Given the description of an element on the screen output the (x, y) to click on. 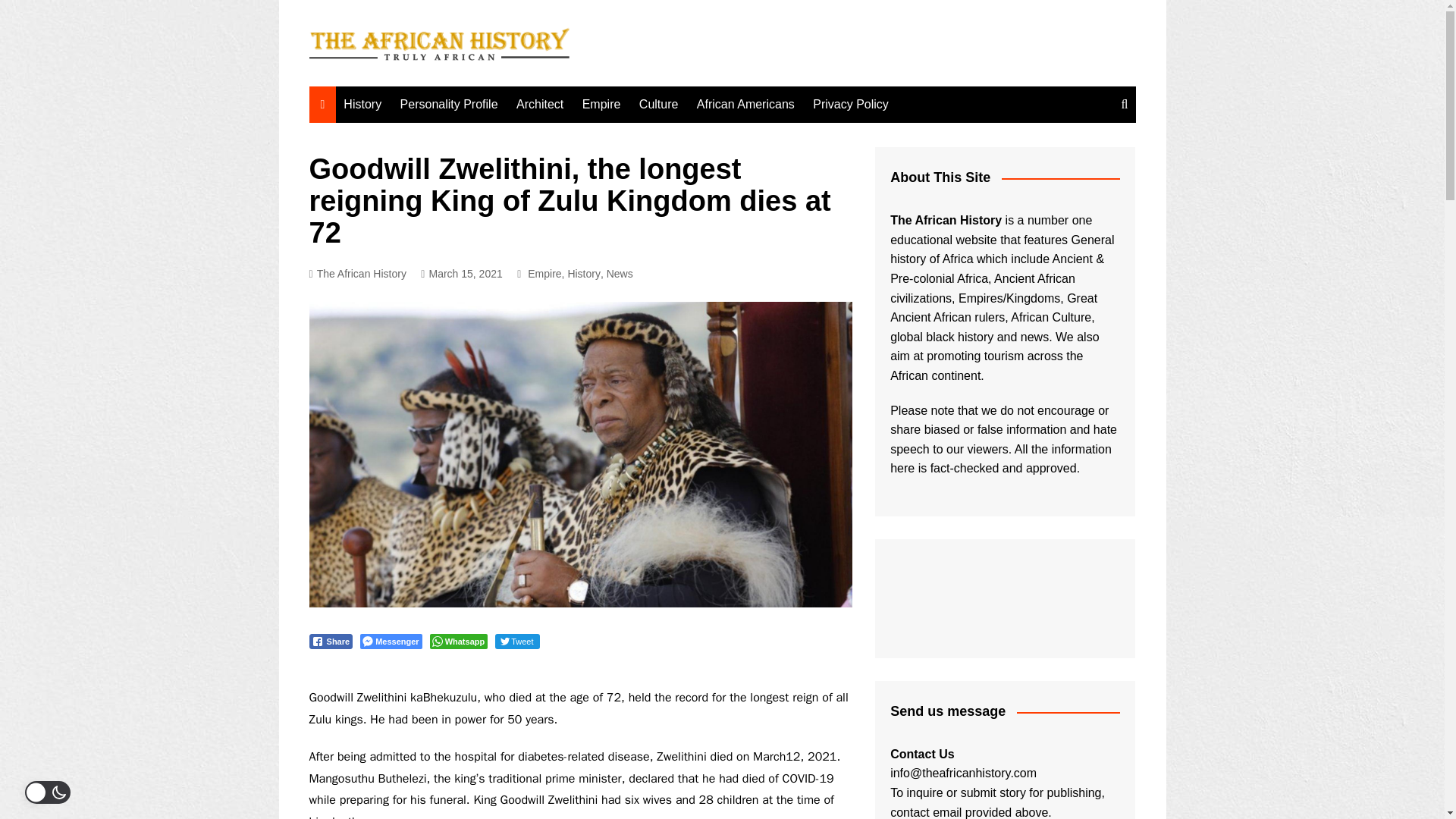
History (362, 104)
Empire (601, 104)
Empire (543, 273)
Architect (539, 104)
Tweet (516, 641)
Share (330, 641)
The African History (357, 273)
Culture (658, 104)
March 15, 2021 (461, 273)
Personality Profile (449, 104)
History (583, 273)
News (620, 273)
African Americans (745, 104)
Whatsapp (458, 641)
Privacy Policy (850, 104)
